Given the description of an element on the screen output the (x, y) to click on. 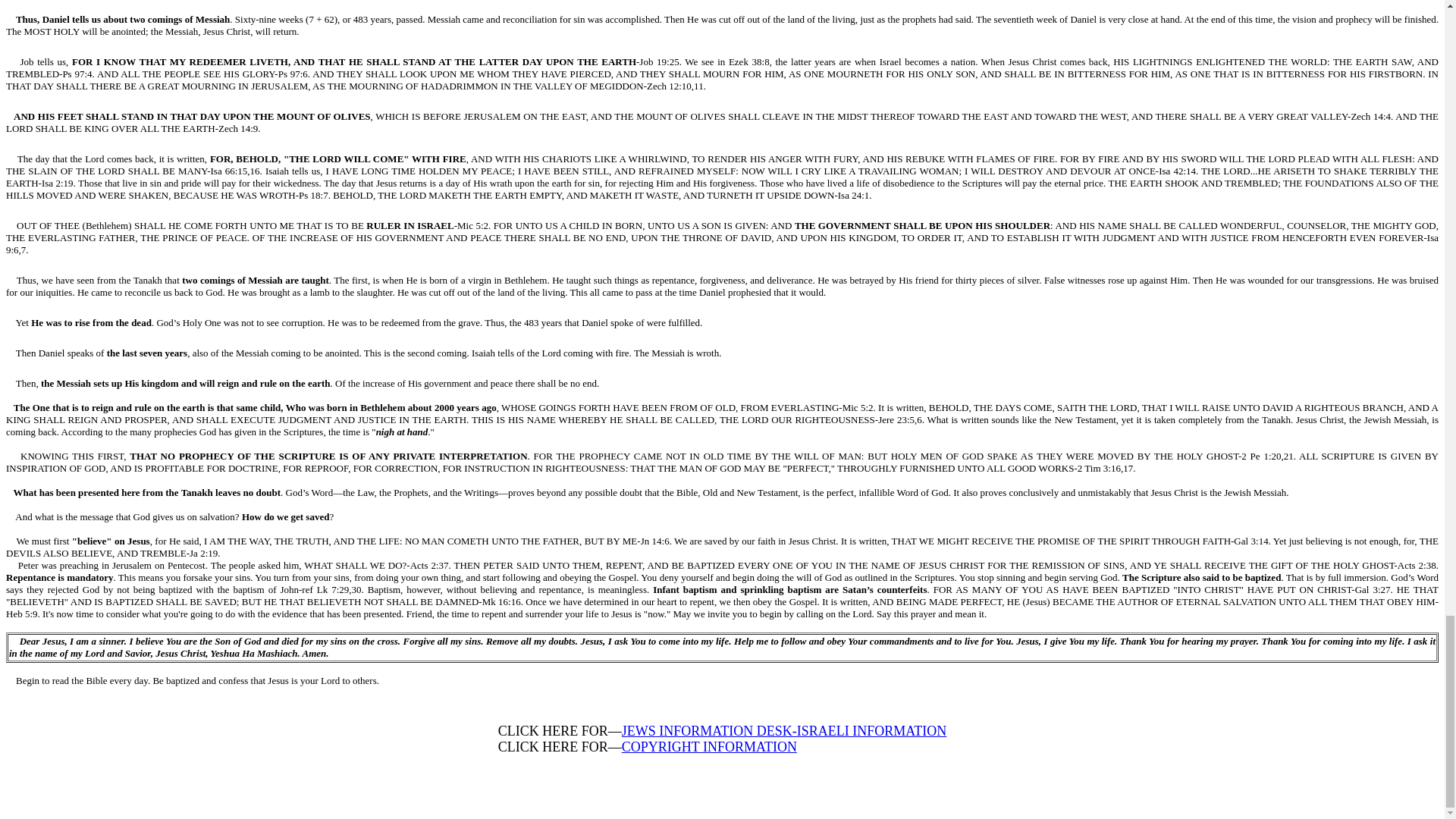
JEWS INFORMATION DESK-ISRAELI INFORMATION (784, 730)
COPYRIGHT INFORMATION (708, 746)
